Given the description of an element on the screen output the (x, y) to click on. 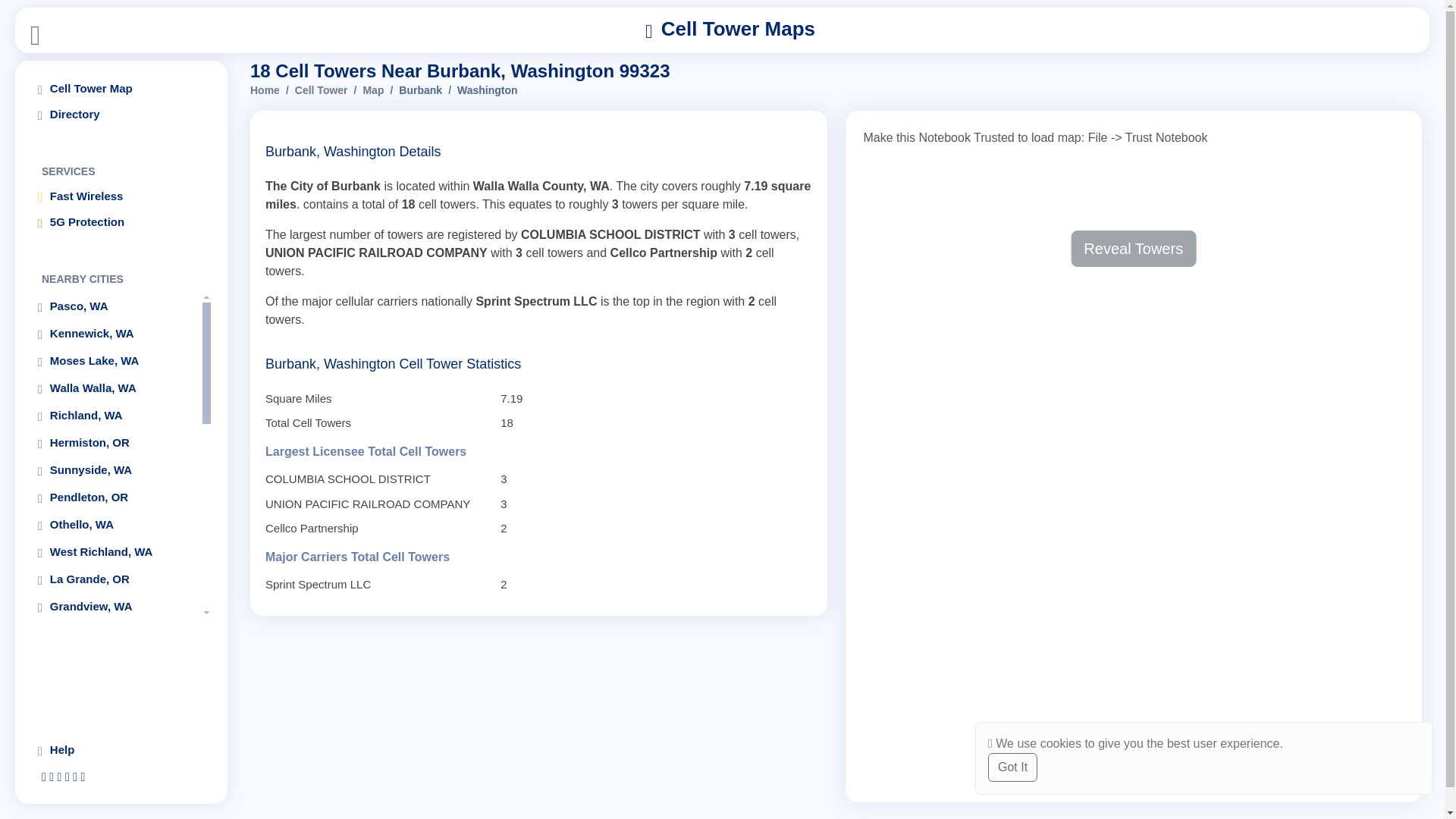
Prosser, WA (115, 633)
5G Protection (121, 222)
Umatilla, OR (115, 770)
Cell Tower Maps (730, 30)
Kennewick, WA (115, 333)
Fast Wireless (121, 196)
La Grande, OR (115, 579)
Sunnyside, WA (115, 469)
Pasco, WA (115, 306)
Walla Walla, WA (115, 387)
